Given the description of an element on the screen output the (x, y) to click on. 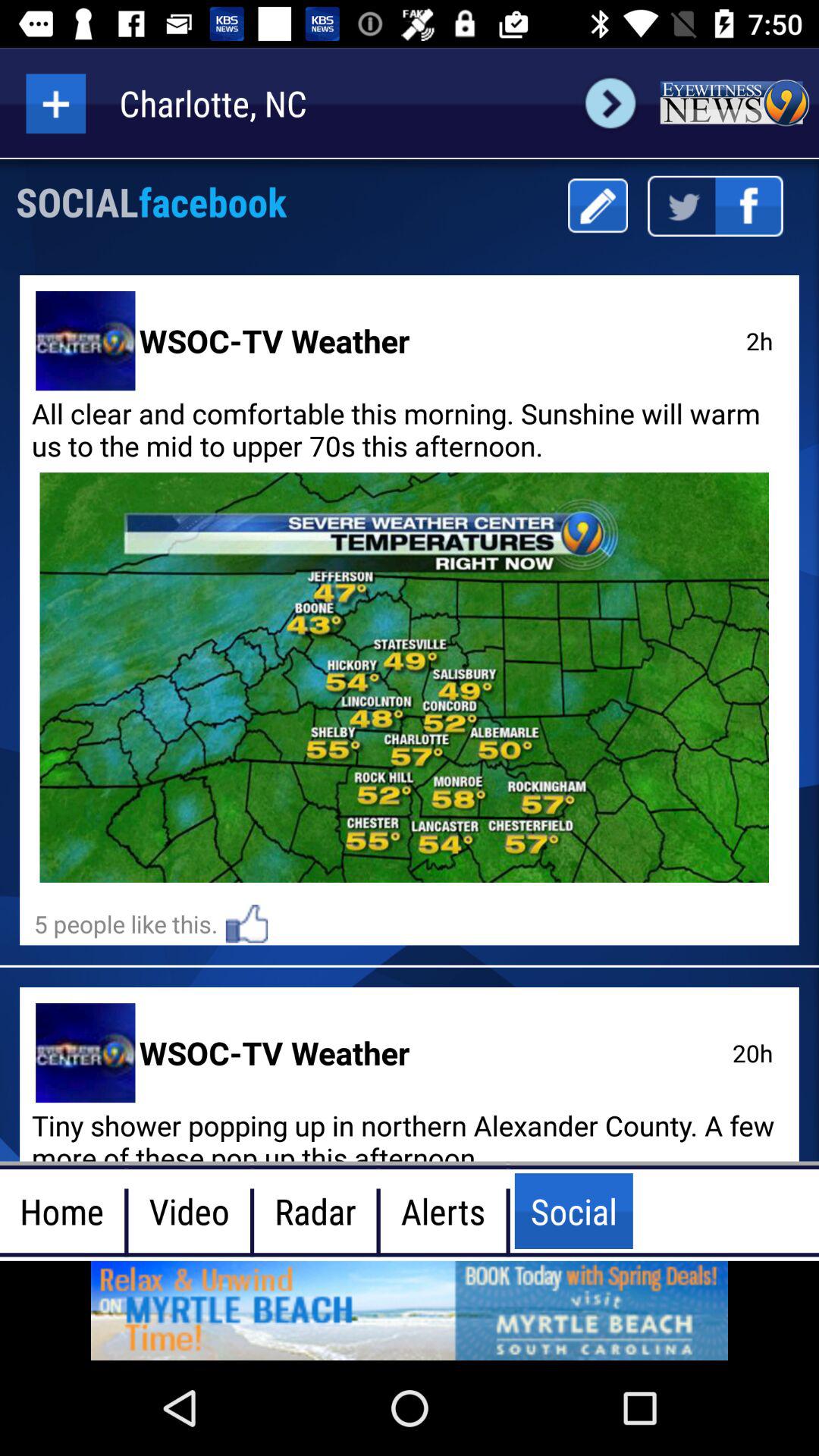
go to next page (610, 103)
